Given the description of an element on the screen output the (x, y) to click on. 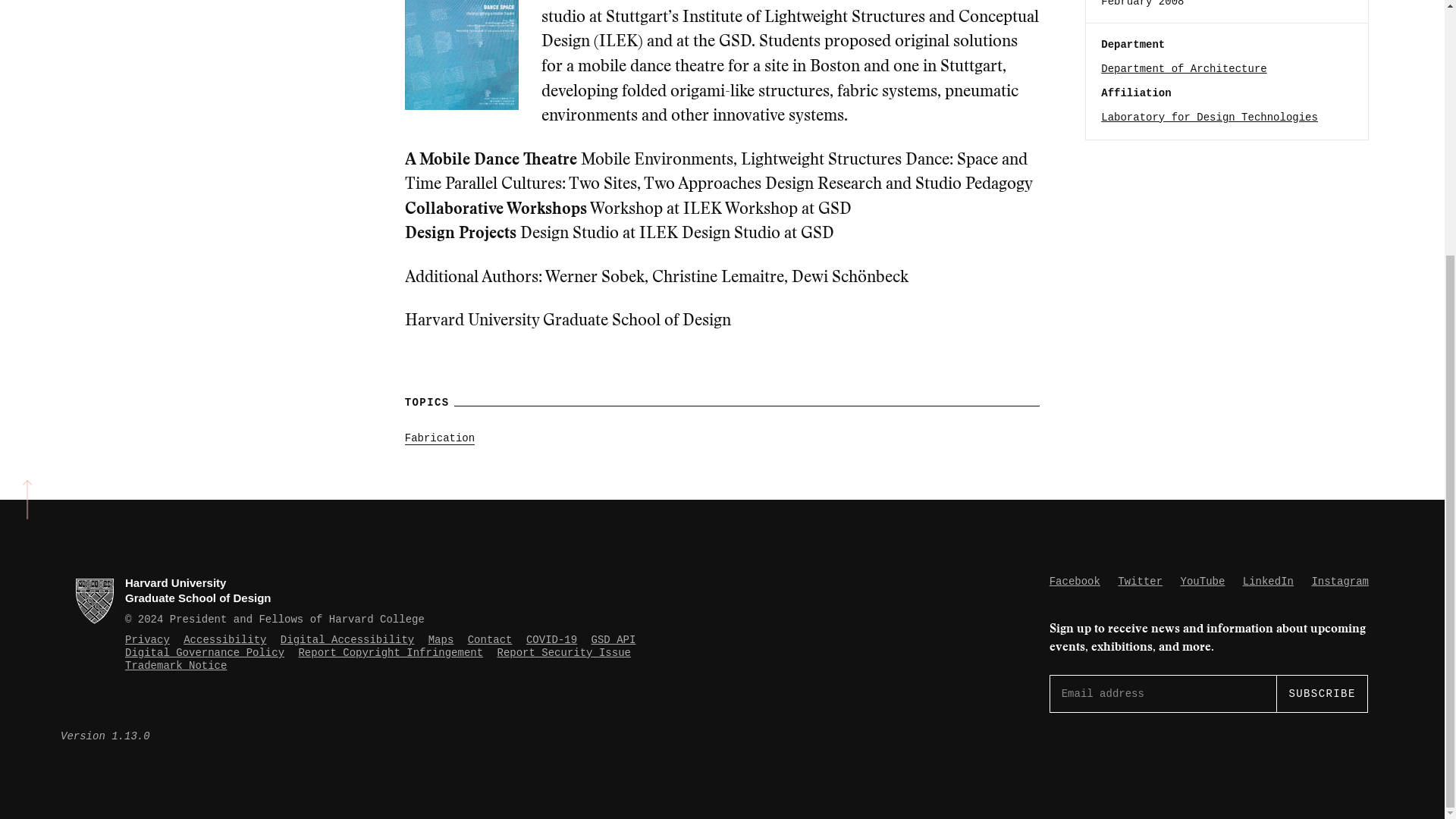
Subscribe (1321, 693)
